Given the description of an element on the screen output the (x, y) to click on. 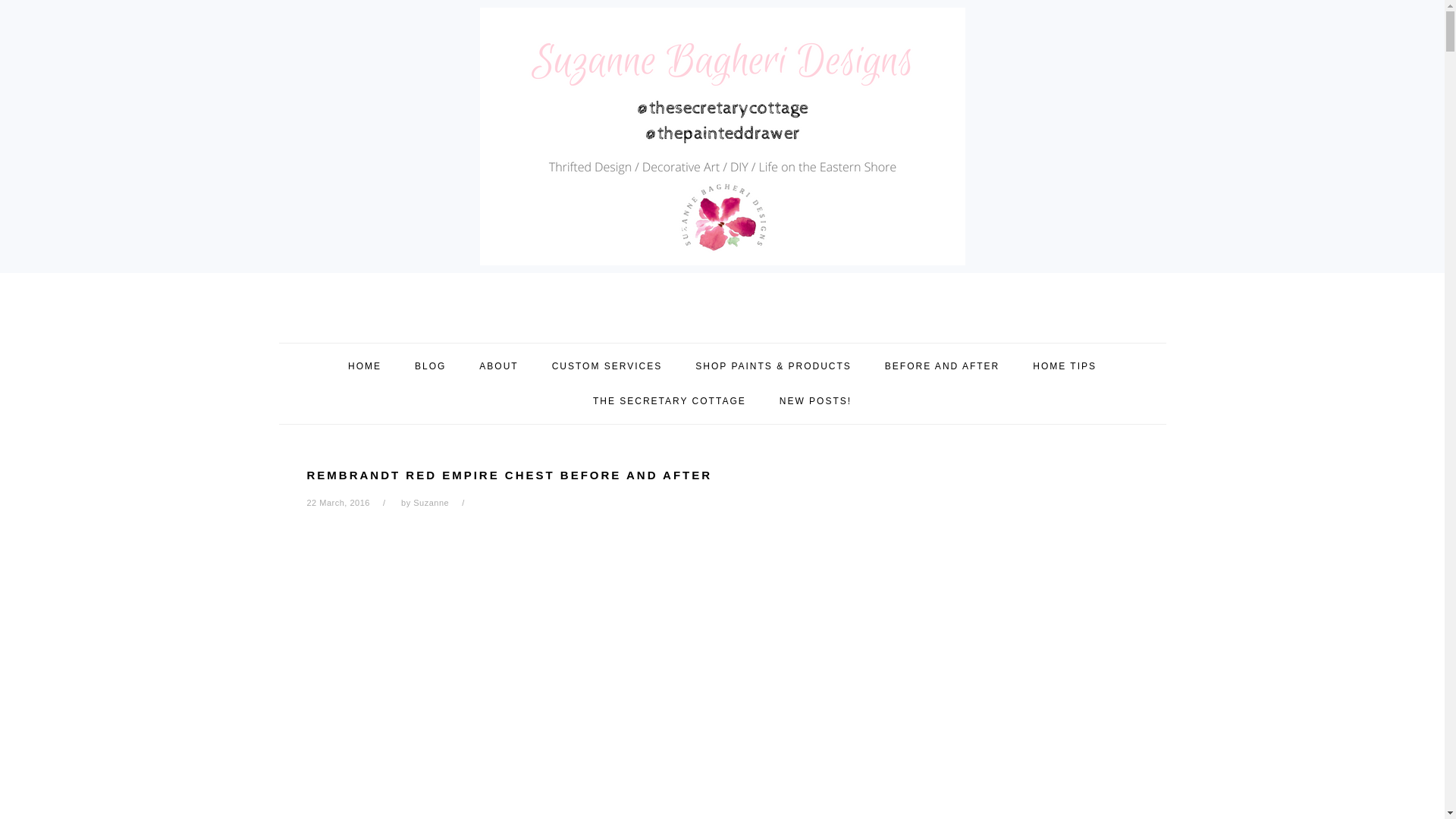
HOME TIPS (1064, 366)
THE SECRETARY COTTAGE (668, 401)
CUSTOM SERVICES (606, 366)
HOME (364, 366)
Suzanne (430, 501)
NEW POSTS! (814, 401)
BLOG (429, 366)
ABOUT (498, 366)
BEFORE AND AFTER (941, 366)
